Given the description of an element on the screen output the (x, y) to click on. 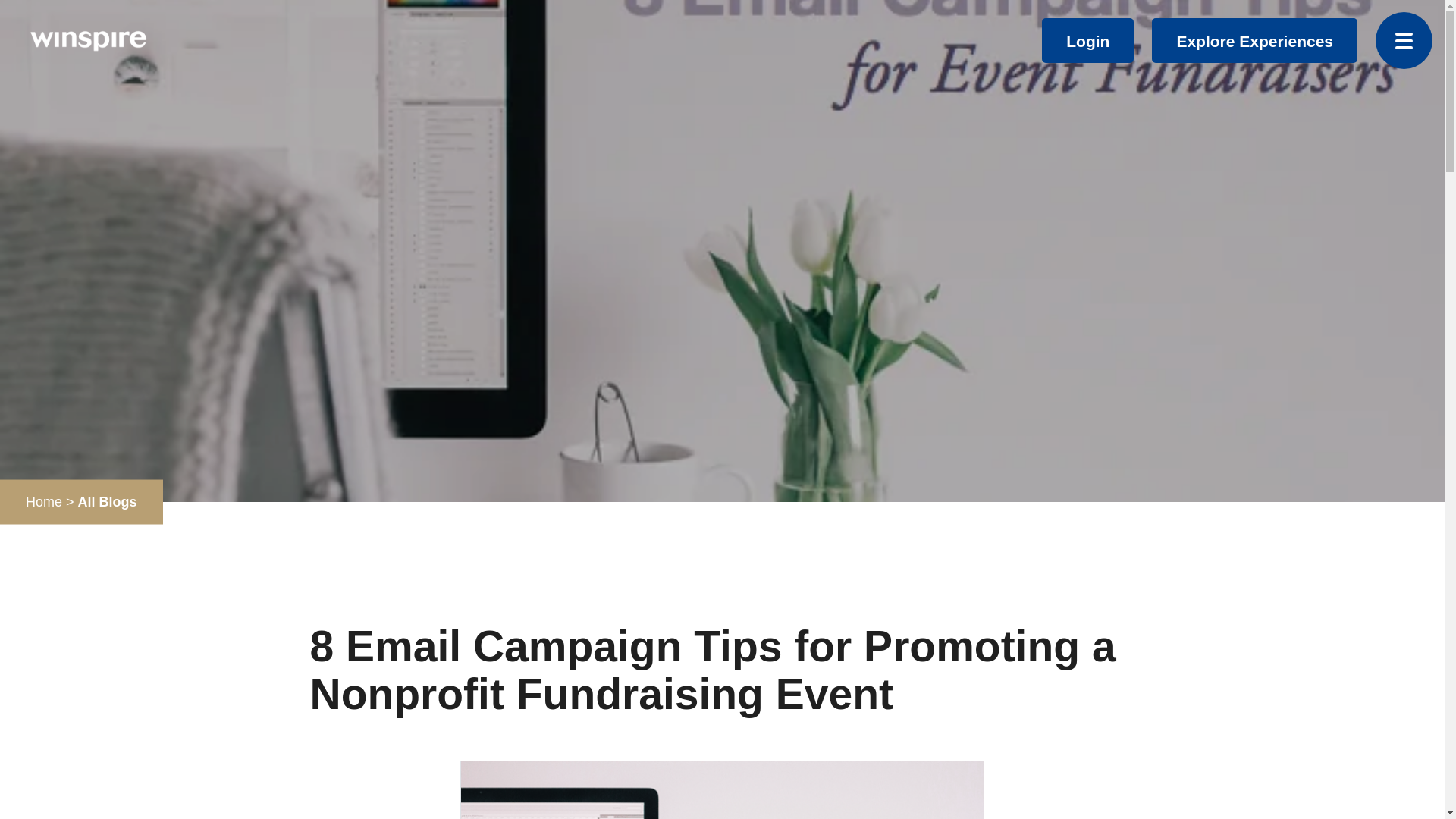
Home (44, 501)
Login (1088, 40)
Explore Experiences (1253, 40)
8 email campaign tips for nonprofit fundraising events (722, 789)
All Blogs (107, 501)
